Given the description of an element on the screen output the (x, y) to click on. 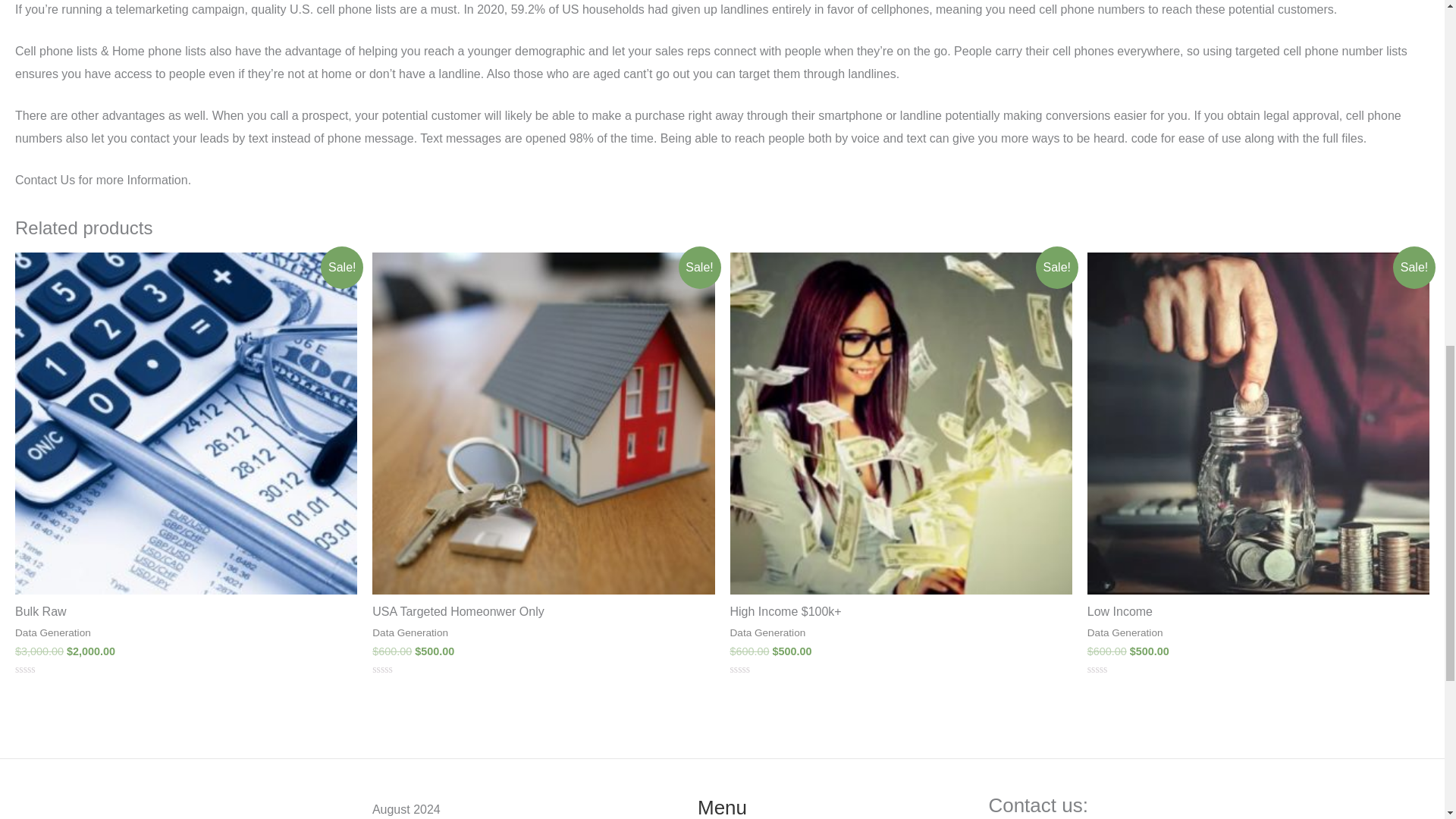
Bulk Raw (185, 611)
USA Targeted Homeonwer Only (543, 611)
